Given the description of an element on the screen output the (x, y) to click on. 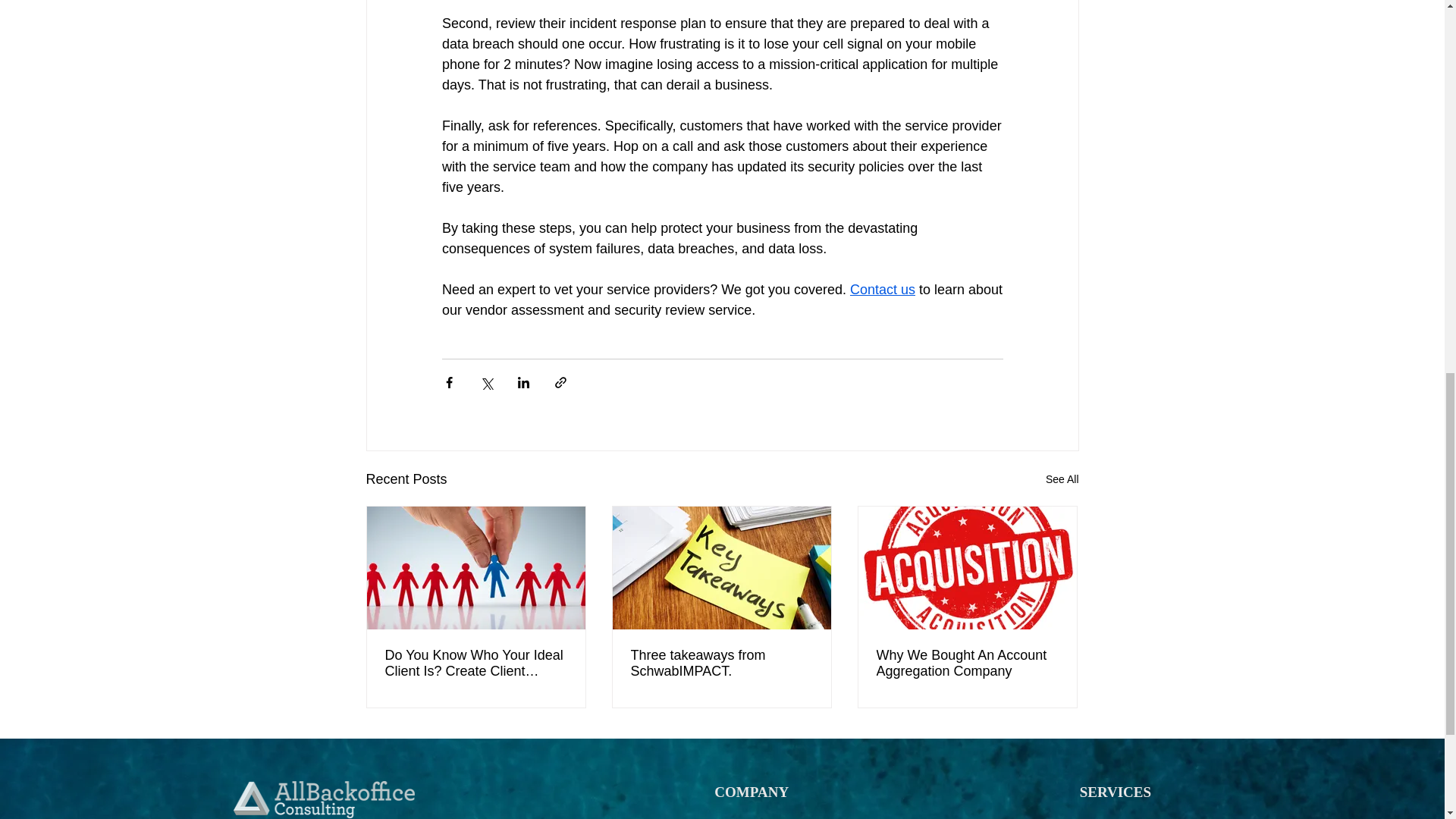
Contact us (881, 289)
Three takeaways from SchwabIMPACT. (721, 663)
Why We Bought An Account Aggregation Company (967, 663)
See All (1061, 479)
